Given the description of an element on the screen output the (x, y) to click on. 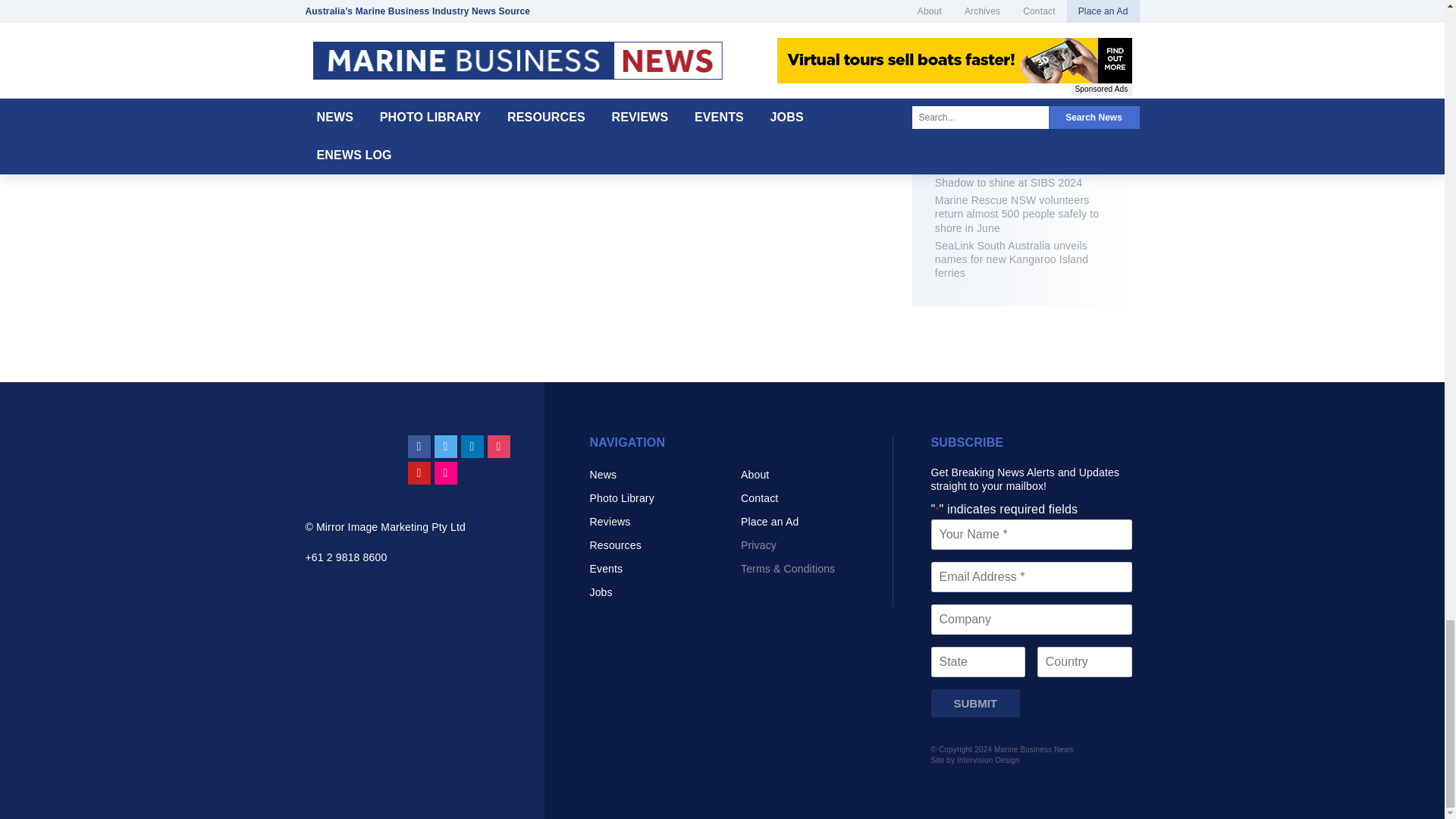
Intervision Design (987, 759)
Submit (975, 703)
